Given the description of an element on the screen output the (x, y) to click on. 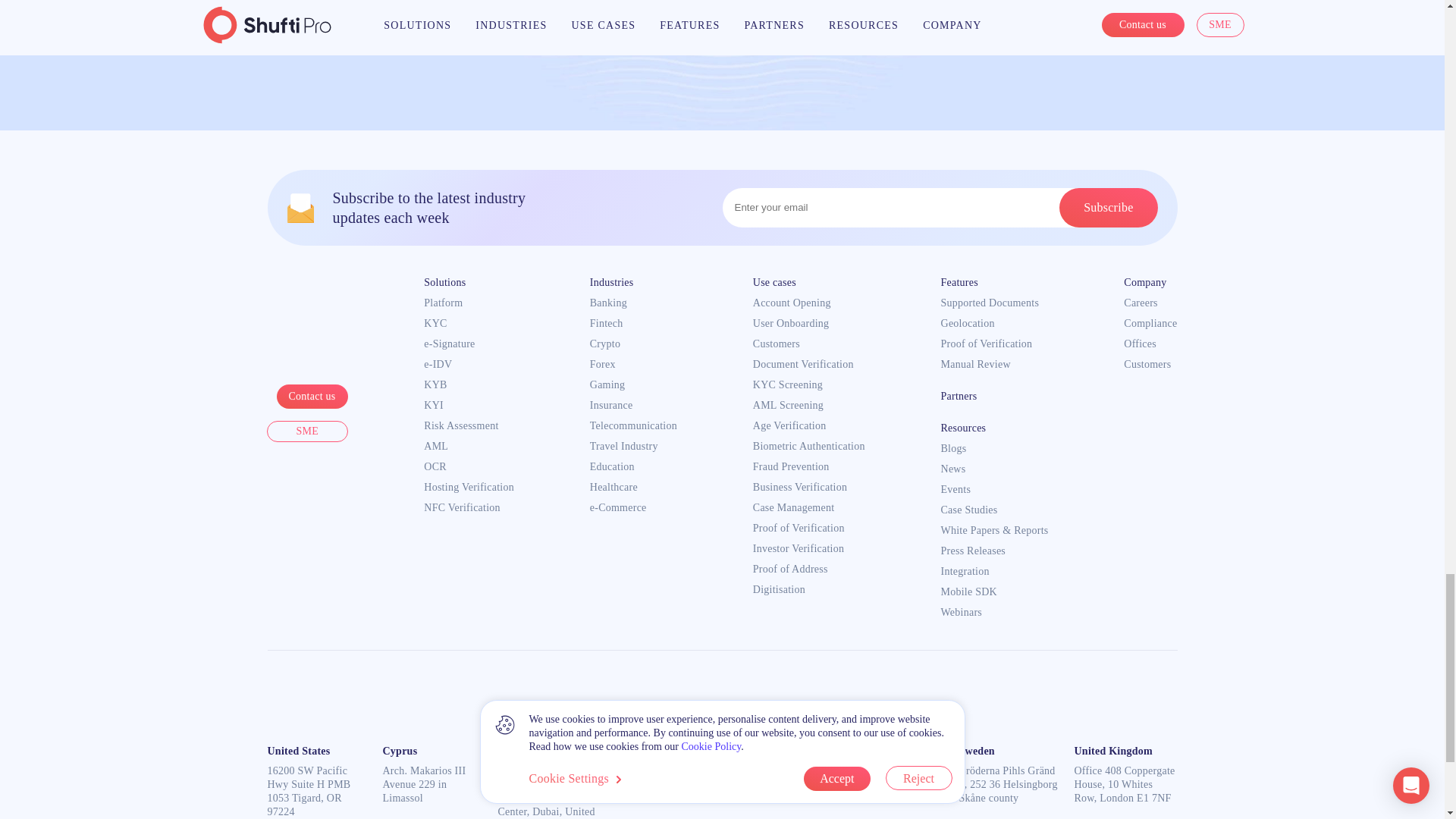
Subscribe (1108, 207)
